Given the description of an element on the screen output the (x, y) to click on. 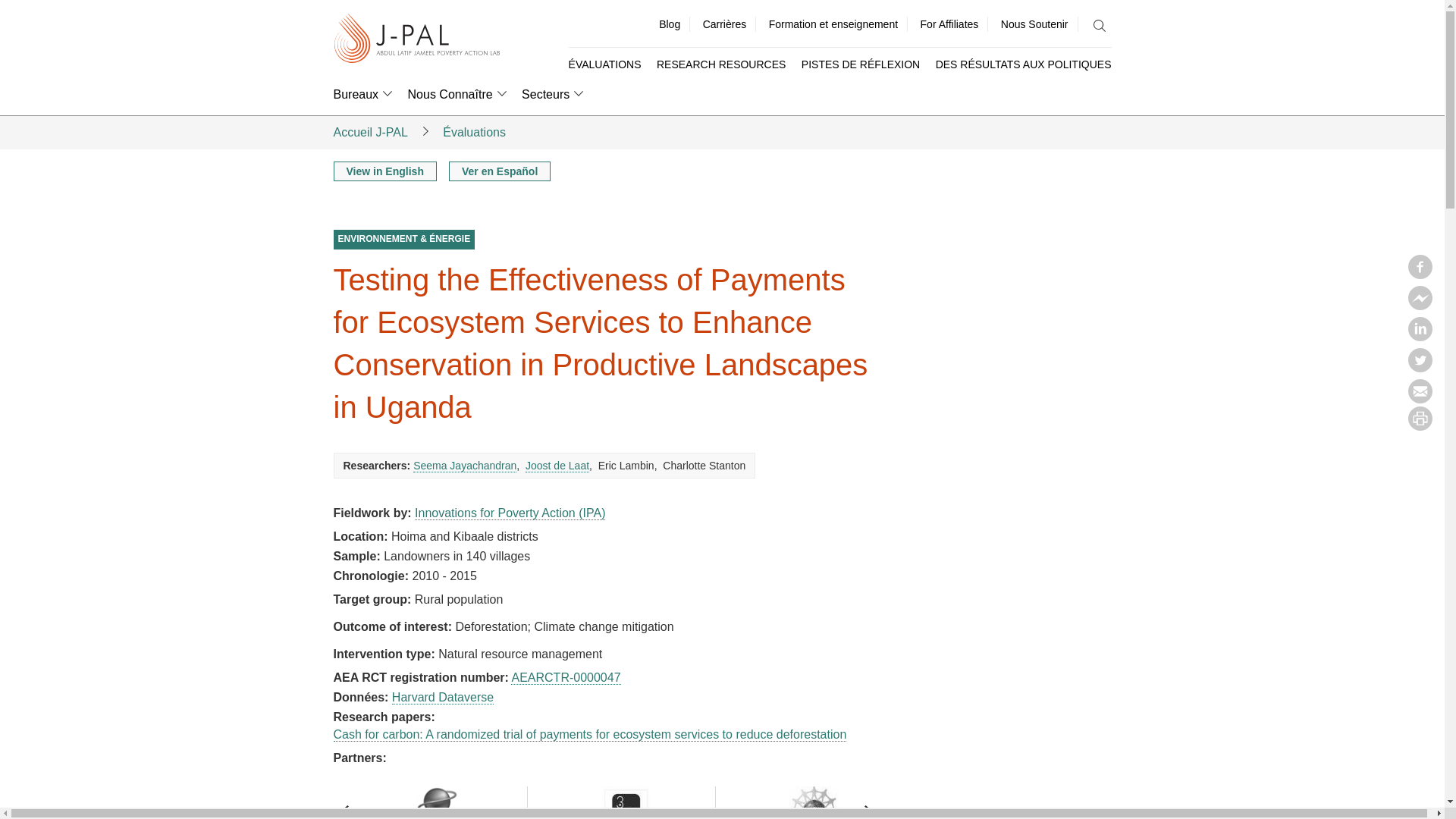
Twitter (1419, 367)
Linkedin (1419, 336)
Facebook messenger (1419, 305)
Email (1419, 399)
J-PAL (416, 39)
Facebook (1419, 274)
print (1419, 426)
